Given the description of an element on the screen output the (x, y) to click on. 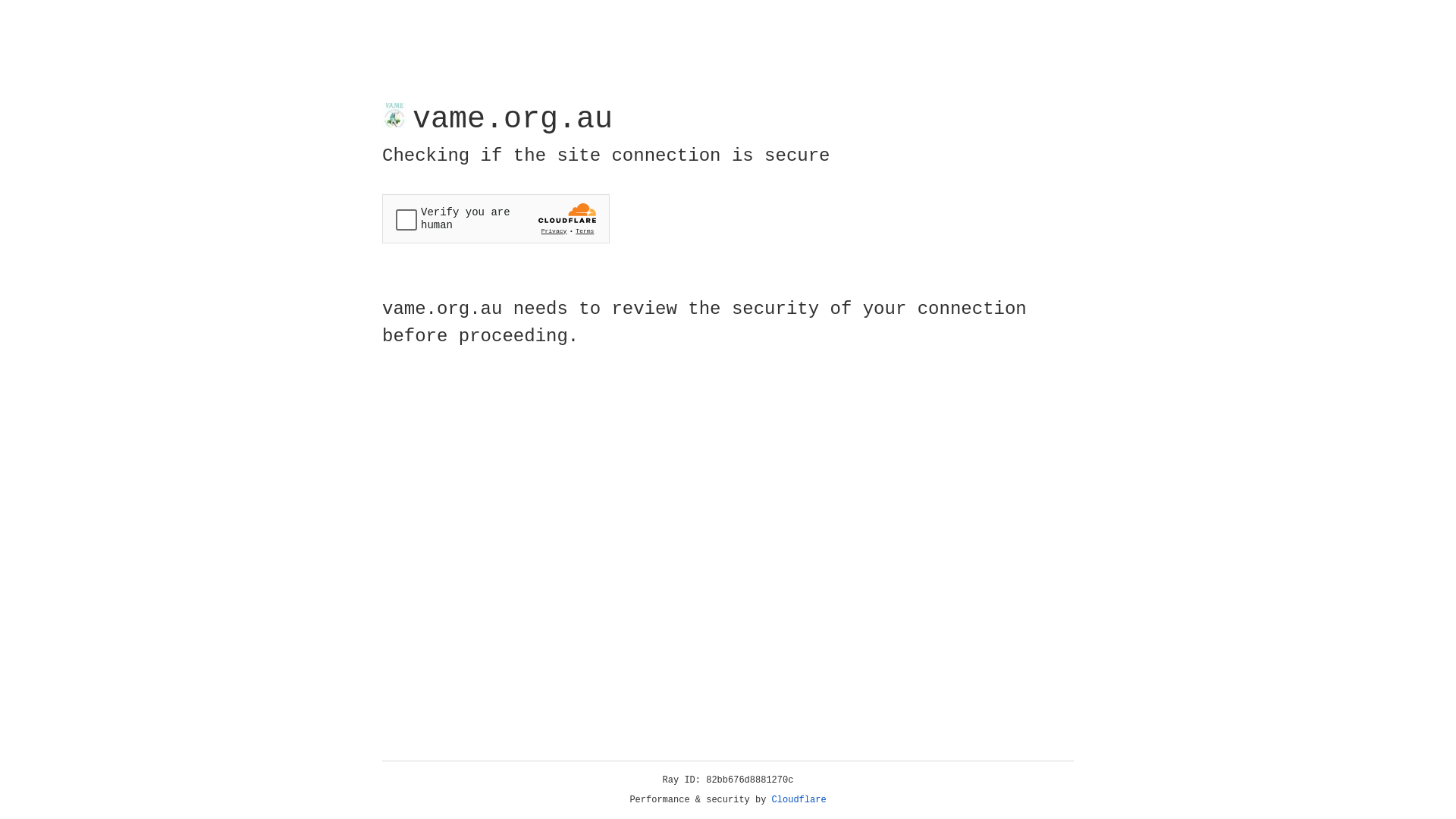
Cloudflare Element type: text (798, 799)
Widget containing a Cloudflare security challenge Element type: hover (495, 218)
